Given the description of an element on the screen output the (x, y) to click on. 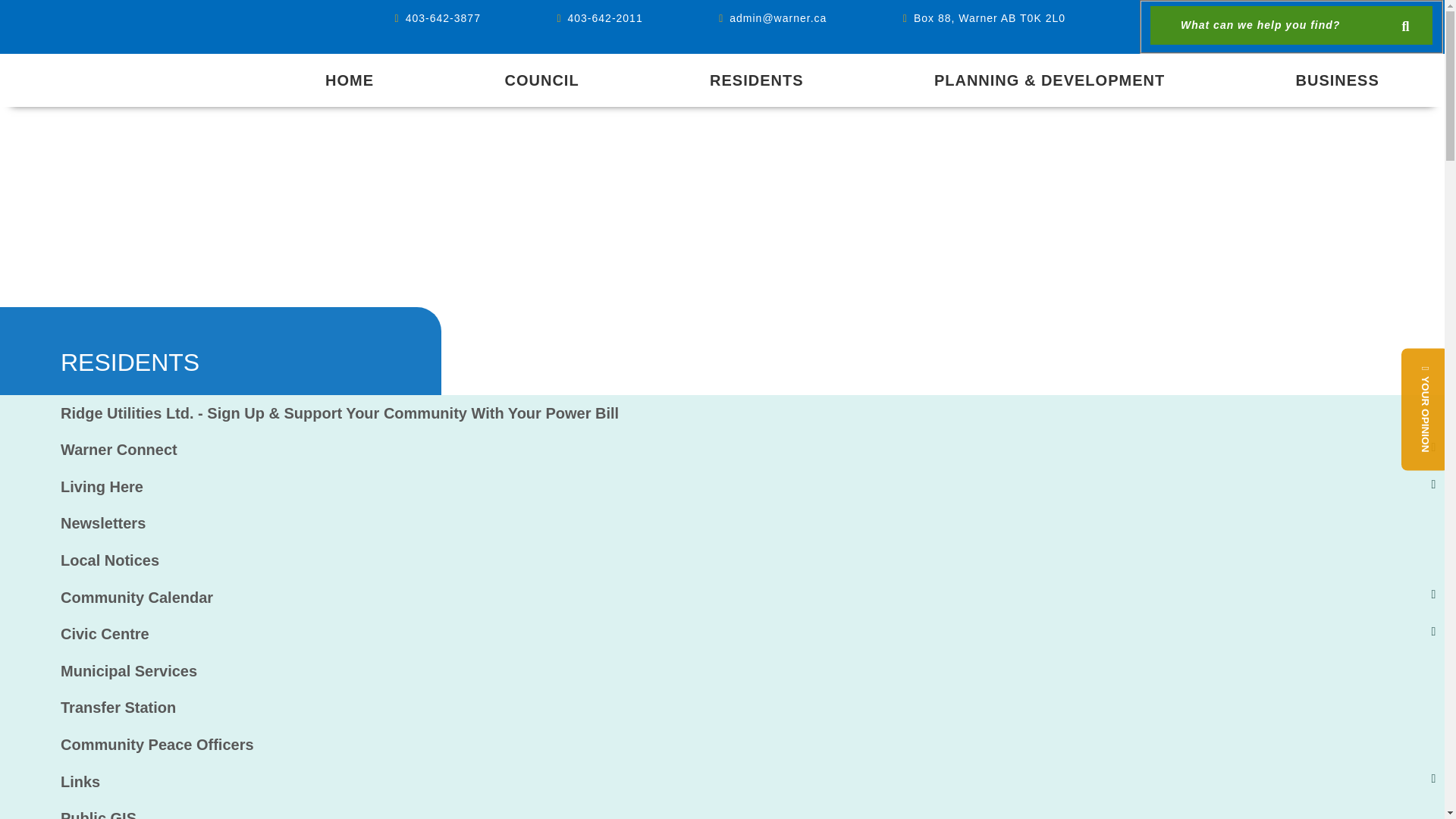
RESIDENTS (756, 80)
Village of Warner (165, 67)
Click to view Council (542, 80)
Welcome to Village of Warner - Education Property Tax  (165, 67)
403-642-3877 (437, 12)
HOME (349, 80)
COUNCIL (542, 80)
Go to home (349, 80)
Our office is located at Box 88, Warner AB T0K 2L0 (983, 12)
403-642-2011 (599, 12)
